Given the description of an element on the screen output the (x, y) to click on. 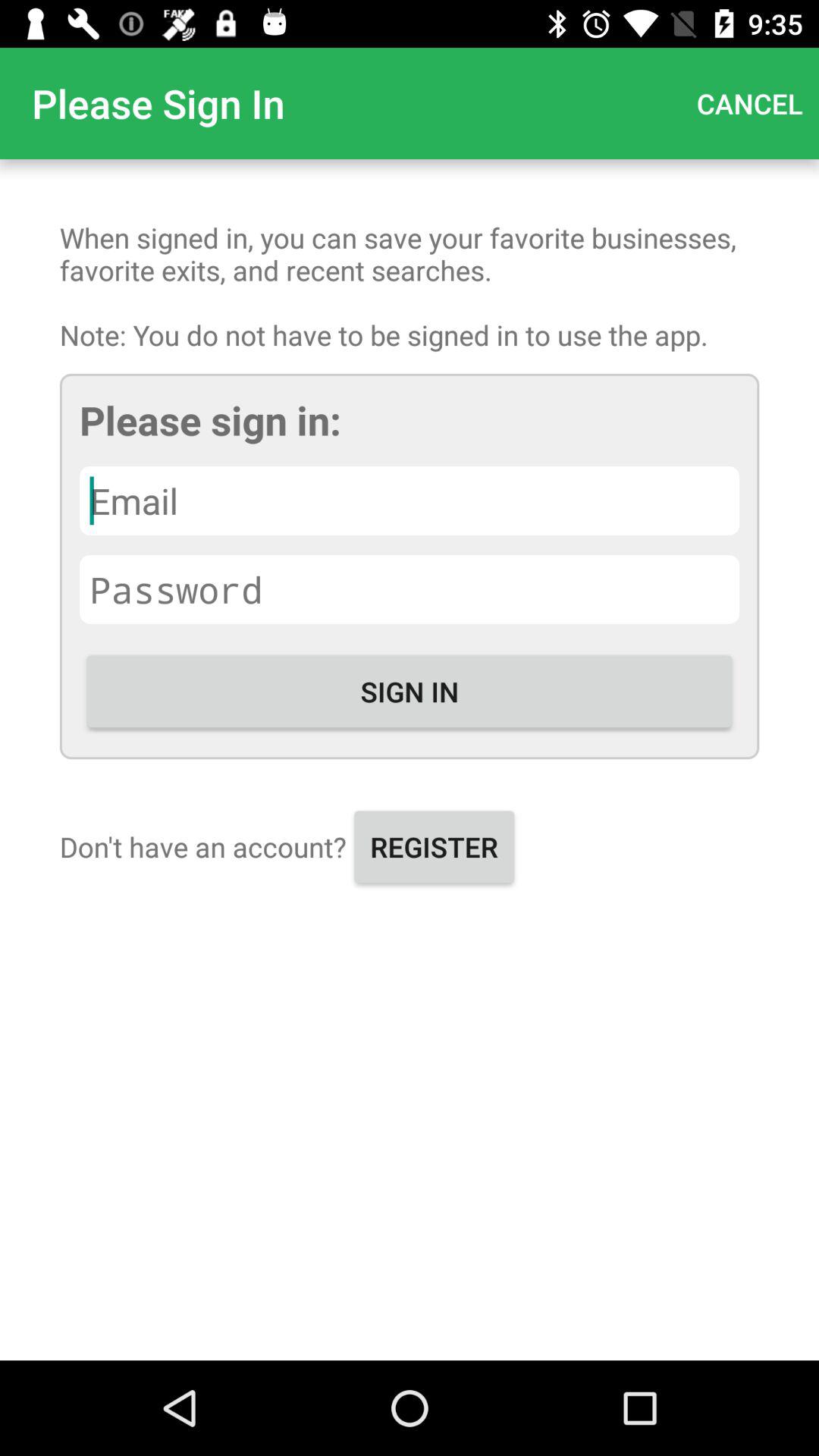
turn off register icon (434, 846)
